Given the description of an element on the screen output the (x, y) to click on. 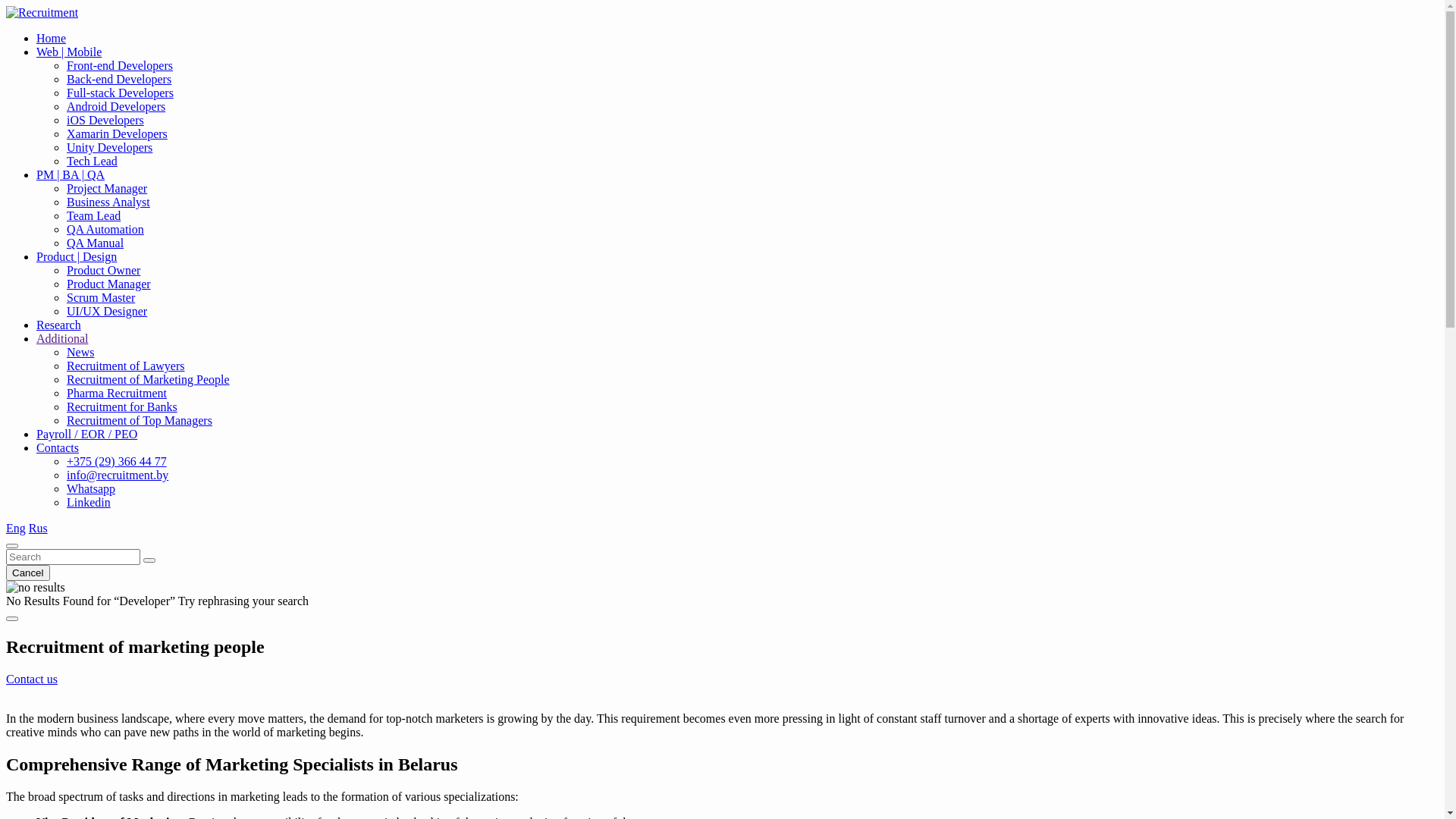
UI/UX Designer Element type: text (106, 310)
Product Manager Element type: text (108, 283)
+375 (29) 366 44 77 Element type: text (116, 461)
Research Element type: text (58, 324)
Whatsapp Element type: text (90, 488)
QA Automation Element type: text (105, 228)
Additional Element type: text (61, 338)
Recruitment of Marketing People Element type: text (147, 379)
Pharma Recruitment Element type: text (116, 392)
Web | Mobile Element type: text (68, 51)
Cancel Element type: text (28, 572)
Team Lead Element type: text (93, 215)
Linkedin Element type: text (88, 501)
News Element type: text (80, 351)
Project Manager Element type: text (106, 188)
Recruitment of Lawyers Element type: text (125, 365)
info@recruitment.by Element type: text (117, 474)
Rus Element type: text (37, 527)
Product Owner Element type: text (103, 269)
Unity Developers Element type: text (109, 147)
Home Element type: text (50, 37)
Recruitment for Banks Element type: text (121, 406)
Xamarin Developers Element type: text (116, 133)
Scrum Master Element type: text (100, 297)
Tech Lead Element type: text (91, 160)
Business Analyst Element type: text (108, 201)
Android Developers Element type: text (115, 106)
iOS Developers Element type: text (105, 119)
Contact us Element type: text (31, 678)
Eng Element type: text (15, 527)
Payroll / EOR / PEO Element type: text (86, 433)
Recruitment of Top Managers Element type: text (139, 420)
Front-end Developers Element type: text (119, 65)
PM | BA | QA Element type: text (70, 174)
Full-stack Developers Element type: text (119, 92)
QA Manual Element type: text (94, 242)
Contacts Element type: text (57, 447)
Back-end Developers Element type: text (118, 78)
Product | Design Element type: text (76, 256)
